Given the description of an element on the screen output the (x, y) to click on. 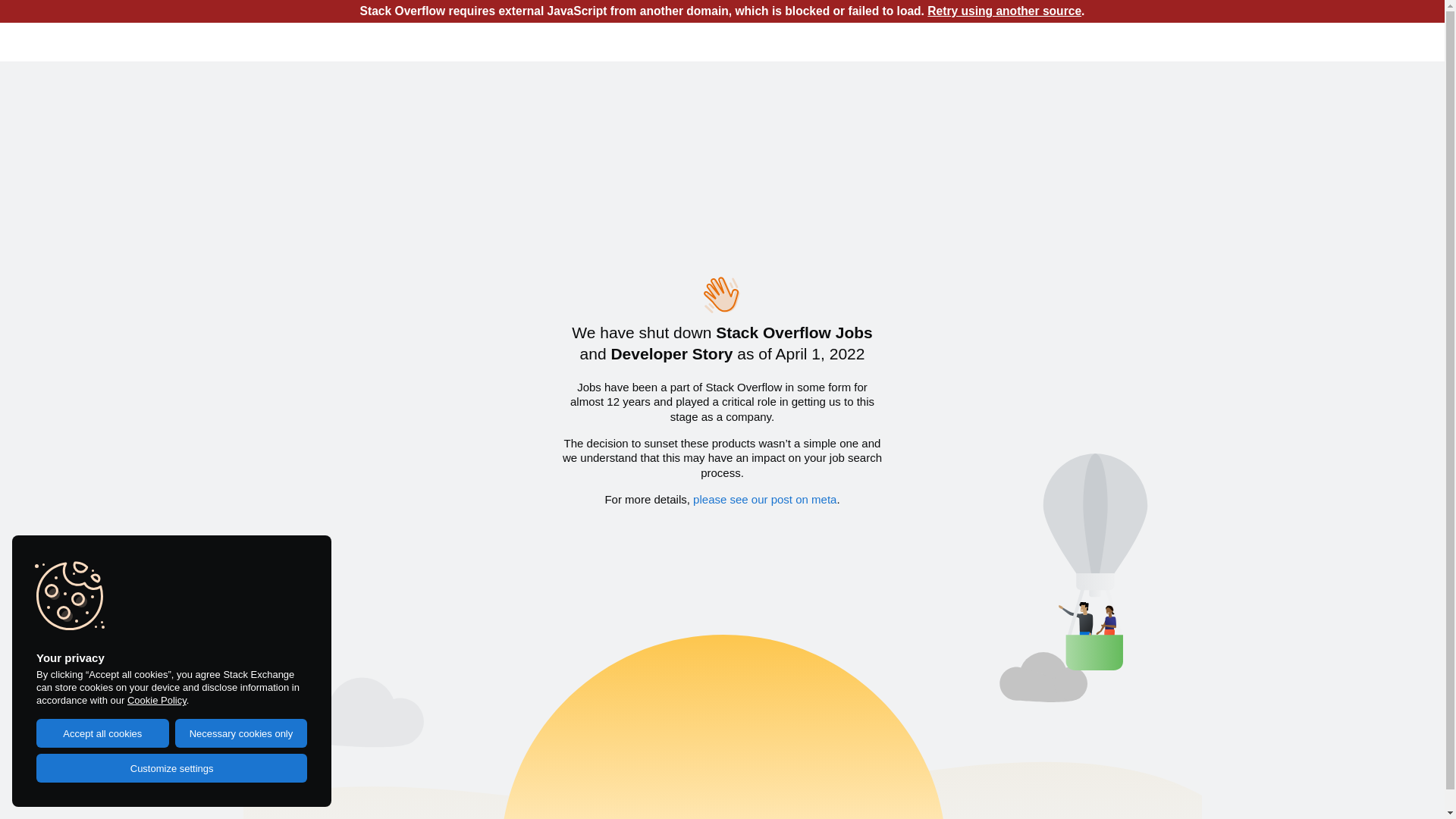
Retry using another source Element type: text (1004, 10)
Necessary cookies only Element type: text (241, 732)
Customize settings Element type: text (171, 767)
Cookie Policy Element type: text (156, 700)
please see our post on meta Element type: text (764, 498)
Accept all cookies Element type: text (102, 732)
